Given the description of an element on the screen output the (x, y) to click on. 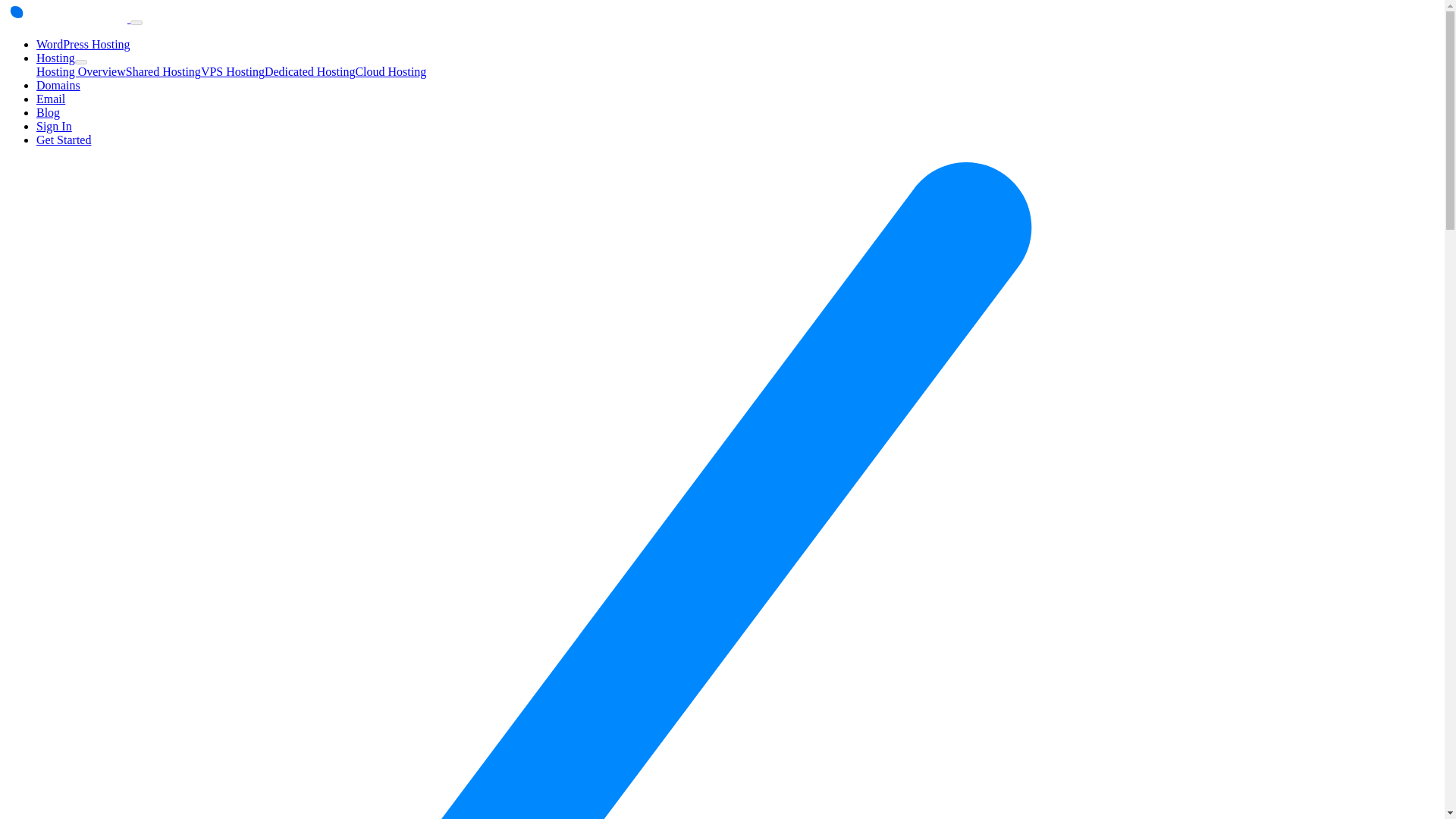
Cloud Hosting (390, 71)
Shared Hosting (162, 71)
Sign In (53, 125)
VPS Hosting (232, 71)
Hosting Overview (80, 71)
Email (50, 98)
Dedicated Hosting (309, 71)
WordPress Hosting (83, 43)
Hosting (55, 57)
Blog (47, 112)
